Given the description of an element on the screen output the (x, y) to click on. 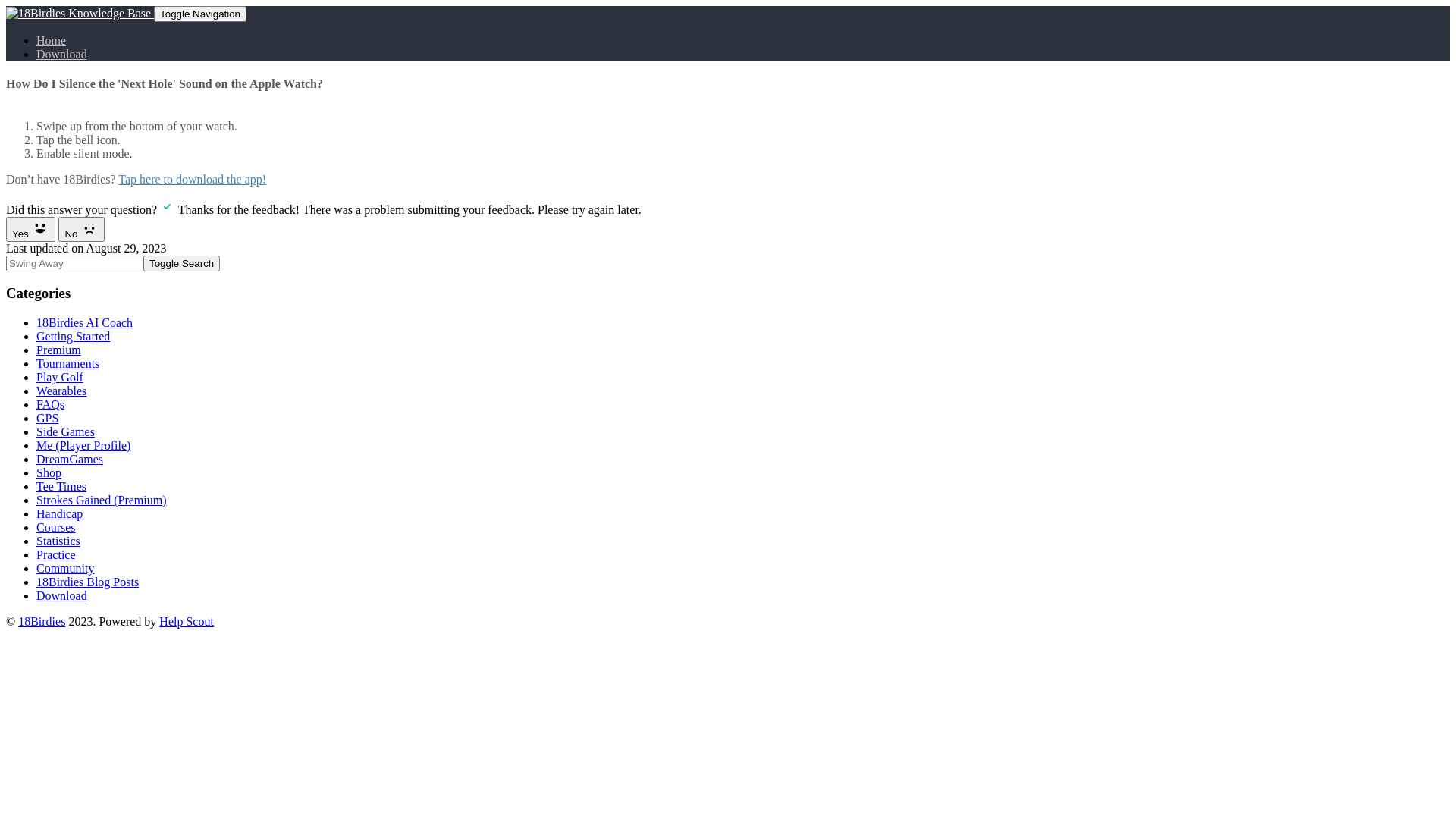
18Birdies Blog Posts Element type: text (87, 581)
DreamGames Element type: text (69, 458)
Yes Element type: text (30, 228)
FAQs Element type: text (50, 404)
Wearables Element type: text (61, 390)
Practice Element type: text (55, 554)
Me (Player Profile) Element type: text (83, 445)
Play Golf Element type: text (59, 376)
Community Element type: text (65, 567)
Tournaments Element type: text (67, 363)
Download Element type: text (61, 595)
No Element type: text (81, 228)
Statistics Element type: text (58, 540)
18Birdies AI Coach Element type: text (84, 322)
Toggle Search Element type: text (181, 263)
search-query Element type: hover (73, 263)
Download Element type: text (61, 53)
Courses Element type: text (55, 526)
Side Games Element type: text (65, 431)
Strokes Gained (Premium) Element type: text (101, 499)
Toggle Navigation Element type: text (199, 13)
Tap here to download the app! Element type: text (192, 178)
Home Element type: text (50, 40)
Help Scout Element type: text (186, 621)
Premium Element type: text (58, 349)
GPS Element type: text (47, 417)
Getting Started Element type: text (72, 335)
Tee Times Element type: text (61, 486)
Shop Element type: text (48, 472)
Handicap Element type: text (59, 513)
18Birdies Element type: text (41, 621)
